Given the description of an element on the screen output the (x, y) to click on. 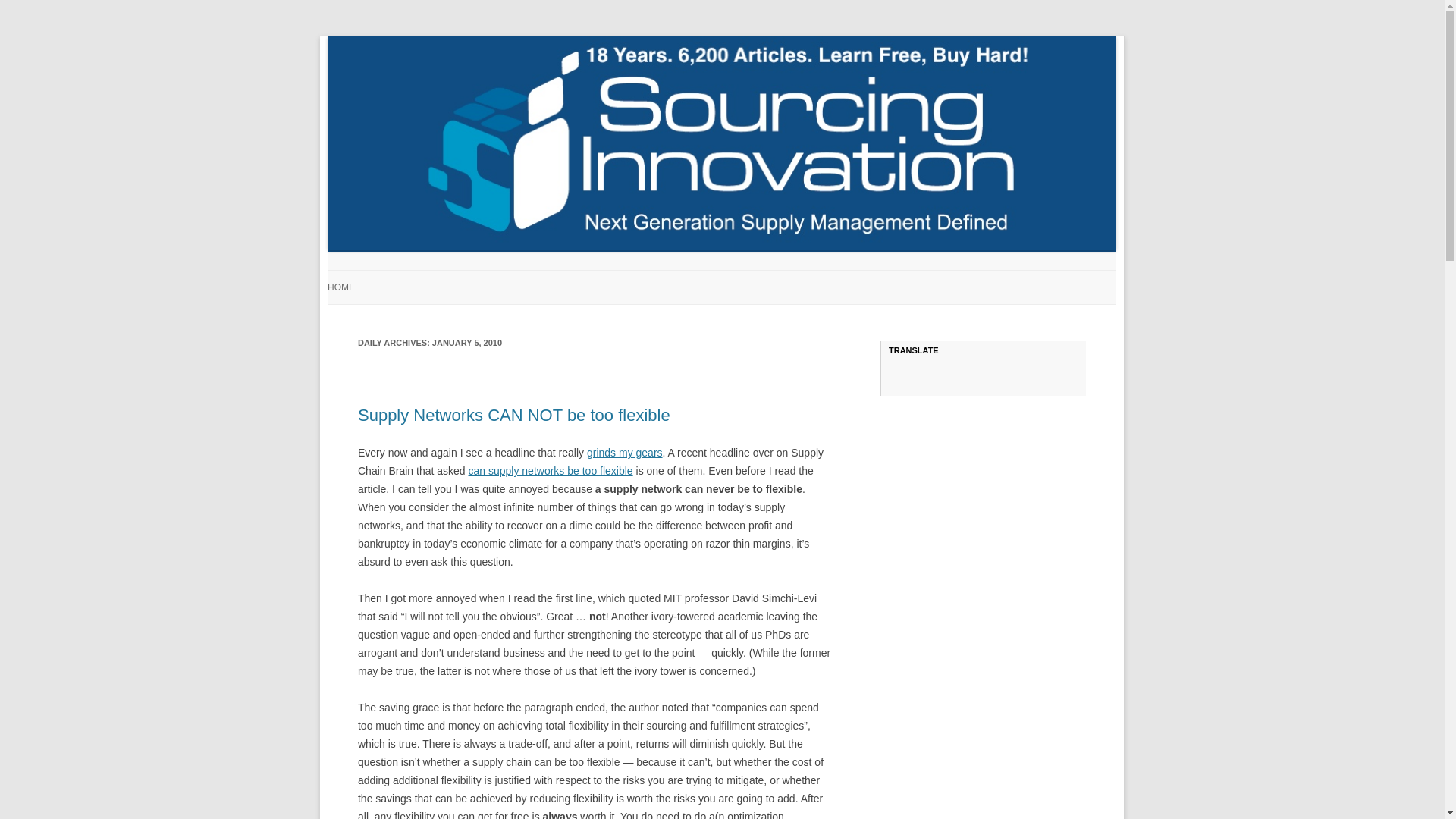
Skip to content (757, 275)
Supply Networks CAN NOT be too flexible (513, 415)
grinds my gears (624, 452)
can supply networks be too flexible (550, 470)
Skip to content (757, 275)
